Given the description of an element on the screen output the (x, y) to click on. 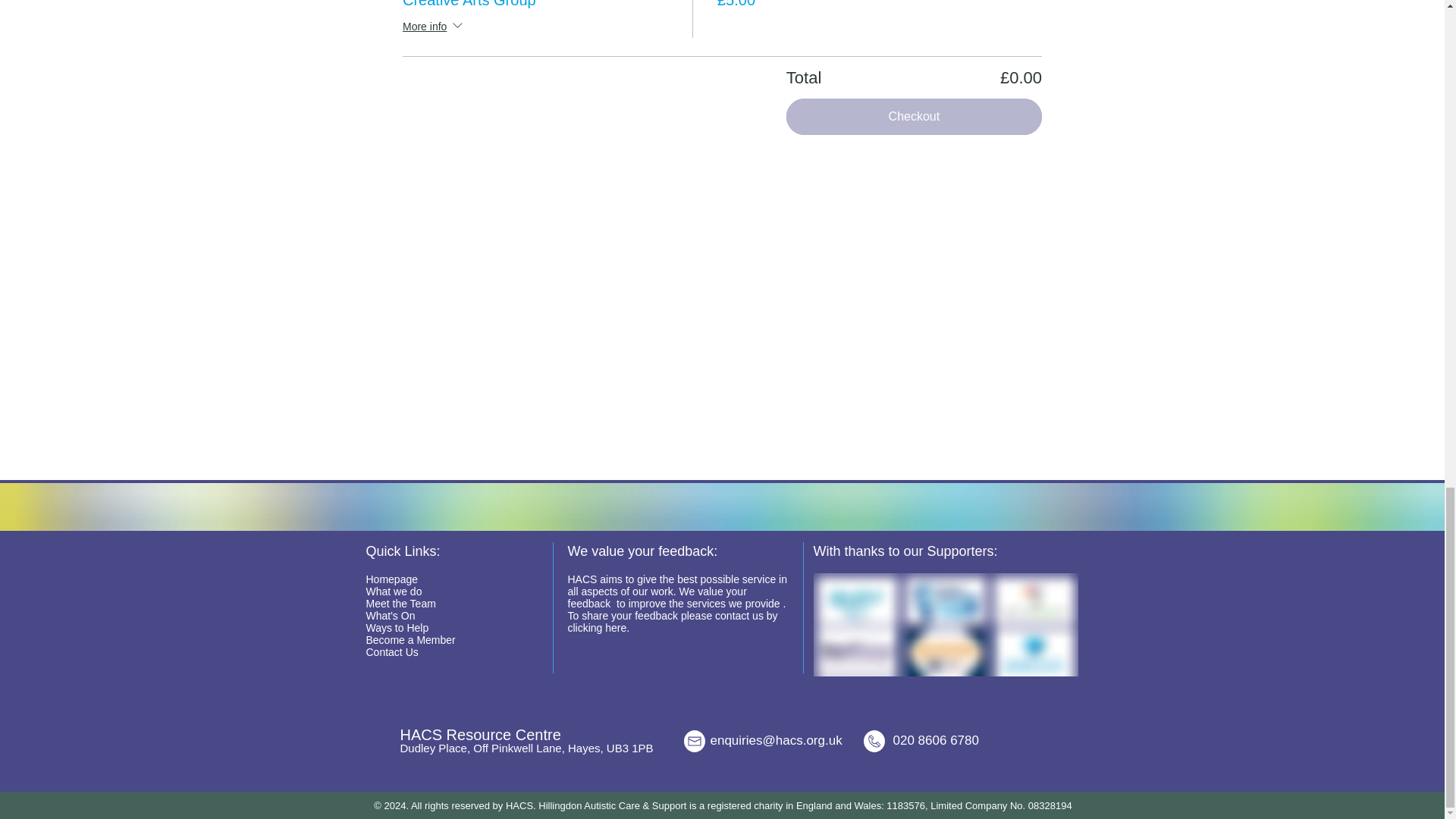
Homepage (391, 579)
Meet the Team (400, 603)
What we do (393, 591)
Checkout (914, 116)
More info (434, 27)
